Given the description of an element on the screen output the (x, y) to click on. 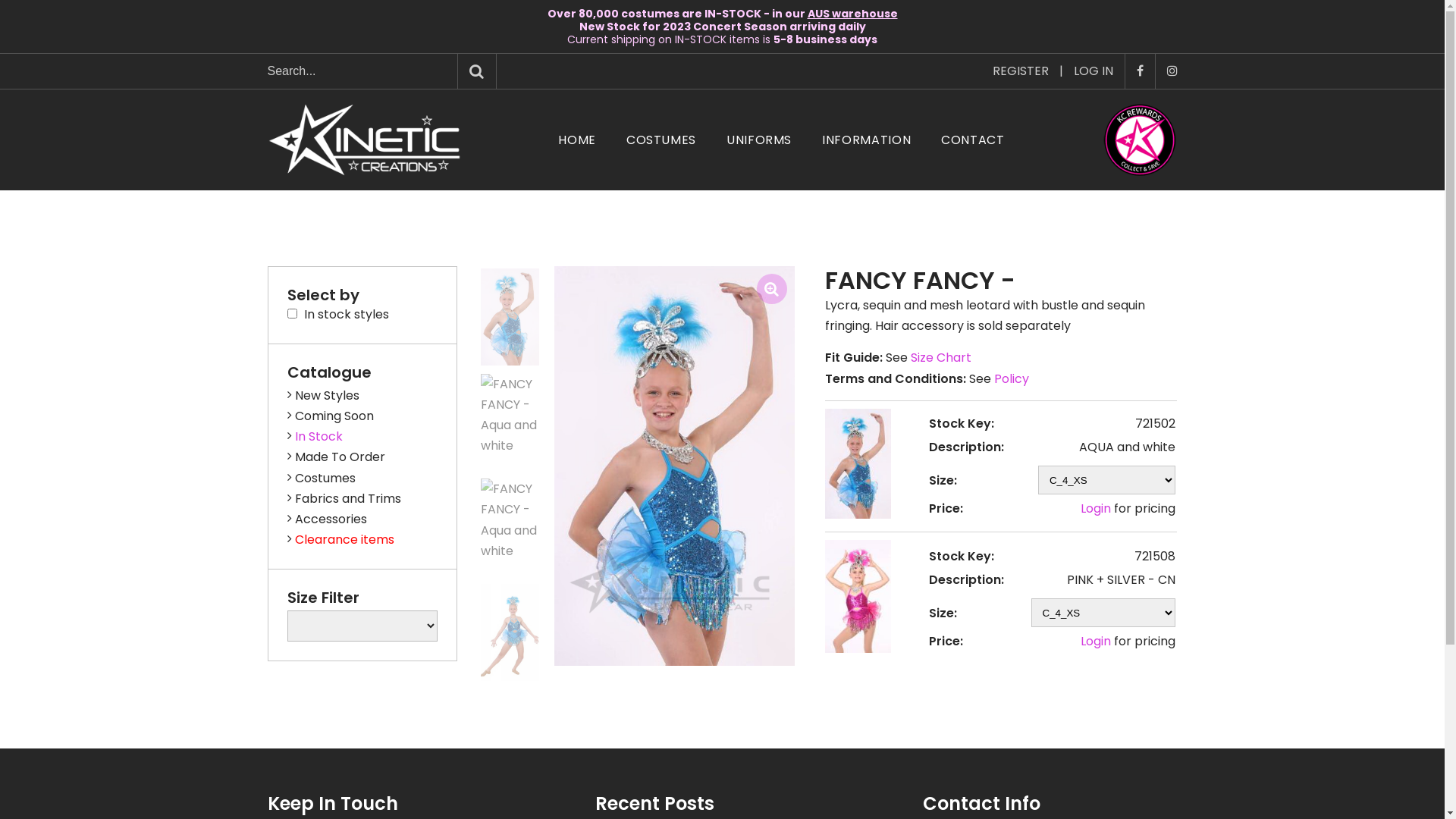
UNIFORMS Element type: text (758, 139)
Made To Order Element type: text (335, 456)
In Stock Element type: text (314, 436)
721502 Element type: hover (509, 317)
Fabrics and Trims Element type: text (343, 498)
New Styles Element type: text (322, 395)
Accessories Element type: text (326, 518)
721502 Element type: hover (509, 632)
REGISTER Element type: text (1019, 70)
721502 Element type: hover (858, 463)
COSTUMES Element type: text (661, 139)
filter-in-stock Element type: text (291, 313)
INFORMATION Element type: text (865, 139)
Login Element type: text (1095, 640)
721502 Element type: hover (509, 527)
LOG IN Element type: text (1093, 70)
Costumes Element type: text (320, 477)
721508 Element type: hover (858, 595)
Clearance items Element type: text (339, 539)
HOME Element type: text (576, 139)
Login Element type: text (1095, 508)
Coming Soon Element type: text (329, 415)
Size Chart Element type: text (940, 357)
CONTACT Element type: text (972, 139)
721502 Element type: hover (509, 422)
Policy Element type: text (1011, 378)
